Given the description of an element on the screen output the (x, y) to click on. 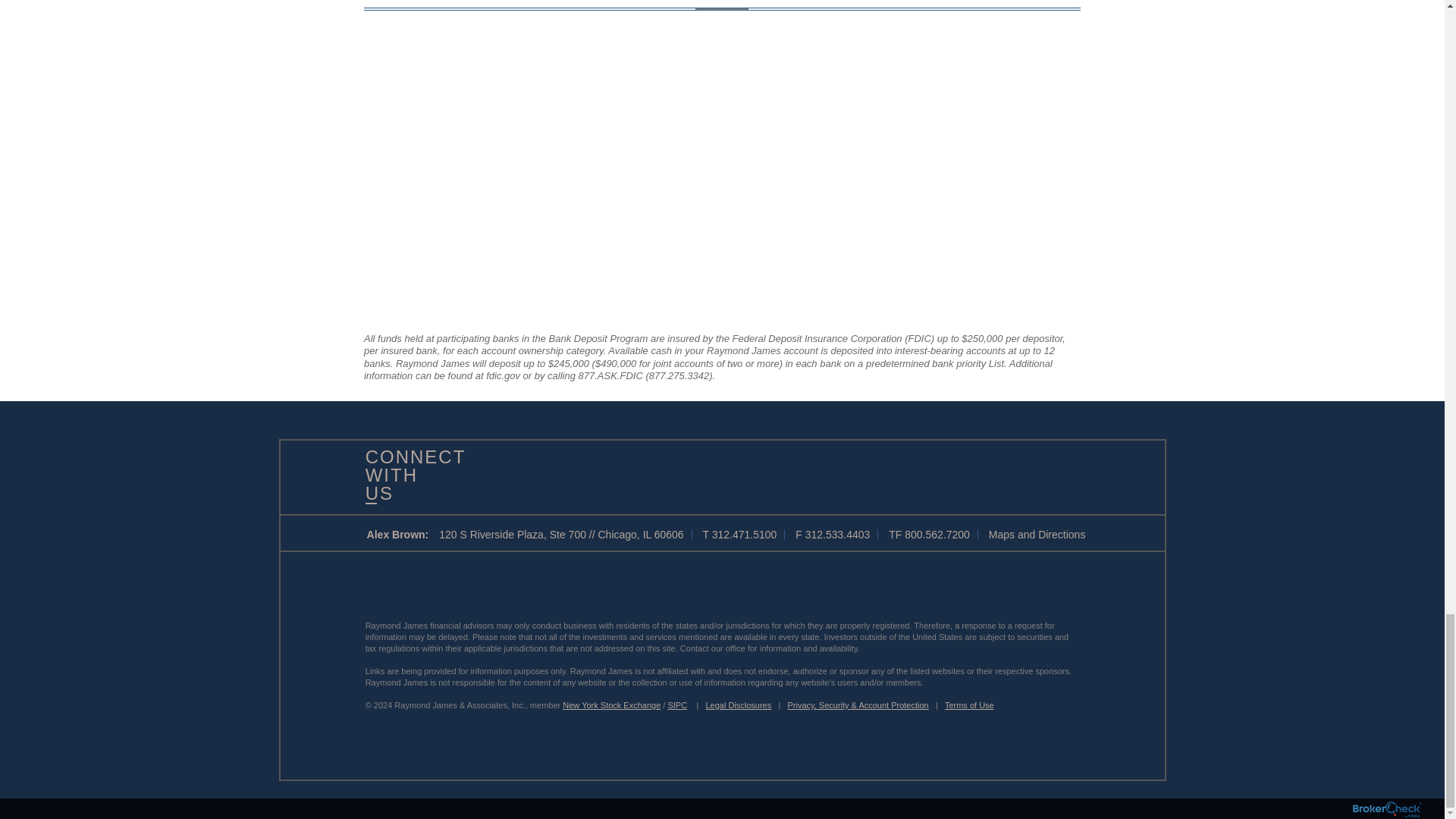
Privacy, Security and Account Protection (857, 705)
Legal Disclosures (737, 705)
New York Stock Exchange (611, 705)
Terms of Use (969, 705)
SIPC (676, 705)
